Given the description of an element on the screen output the (x, y) to click on. 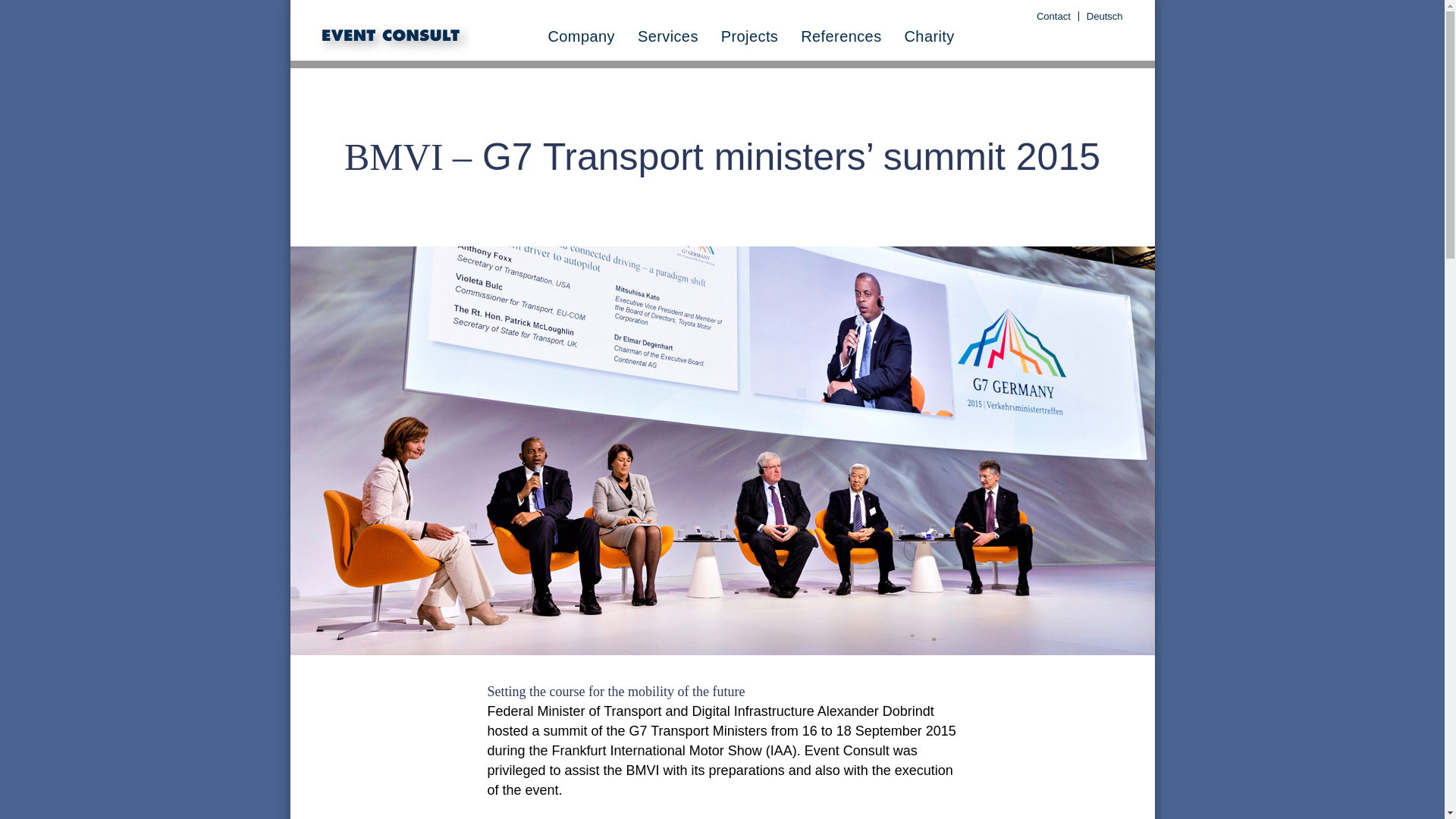
Event Consult GmbH (396, 40)
Deutsch (1104, 16)
Services (668, 35)
Company (581, 35)
Contact (1053, 16)
